Given the description of an element on the screen output the (x, y) to click on. 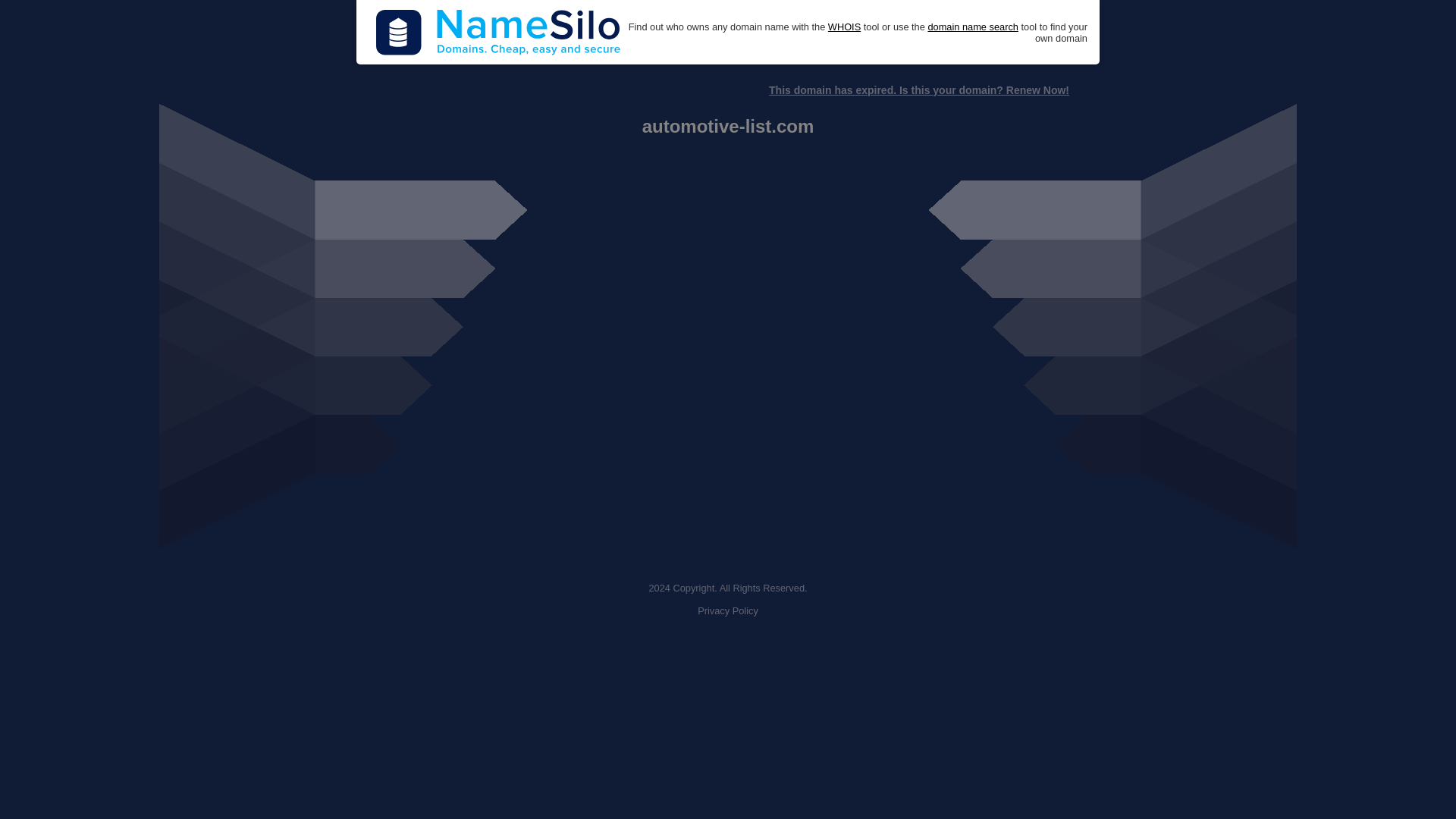
domain name search (972, 26)
WHOIS (844, 26)
Privacy Policy (727, 610)
This domain has expired. Is this your domain? Renew Now! (918, 90)
